Given the description of an element on the screen output the (x, y) to click on. 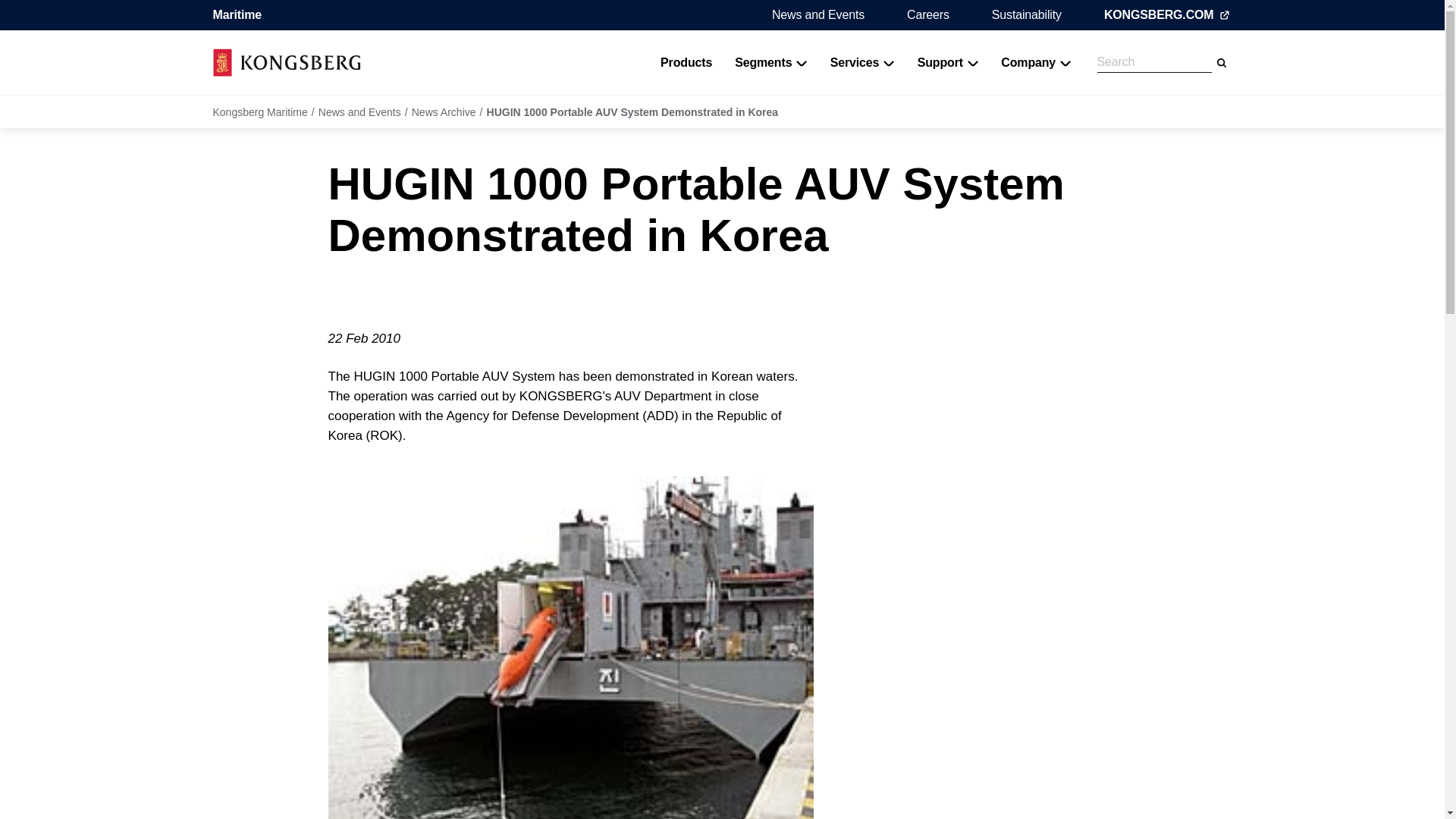
Services (862, 62)
Support (948, 62)
Products (685, 62)
Sustainability (1026, 14)
Company (1035, 62)
KONGSBERG.COM (1167, 14)
News and Events (817, 14)
Careers (928, 14)
Segments (770, 62)
Kongsberg Maritime (285, 62)
